Given the description of an element on the screen output the (x, y) to click on. 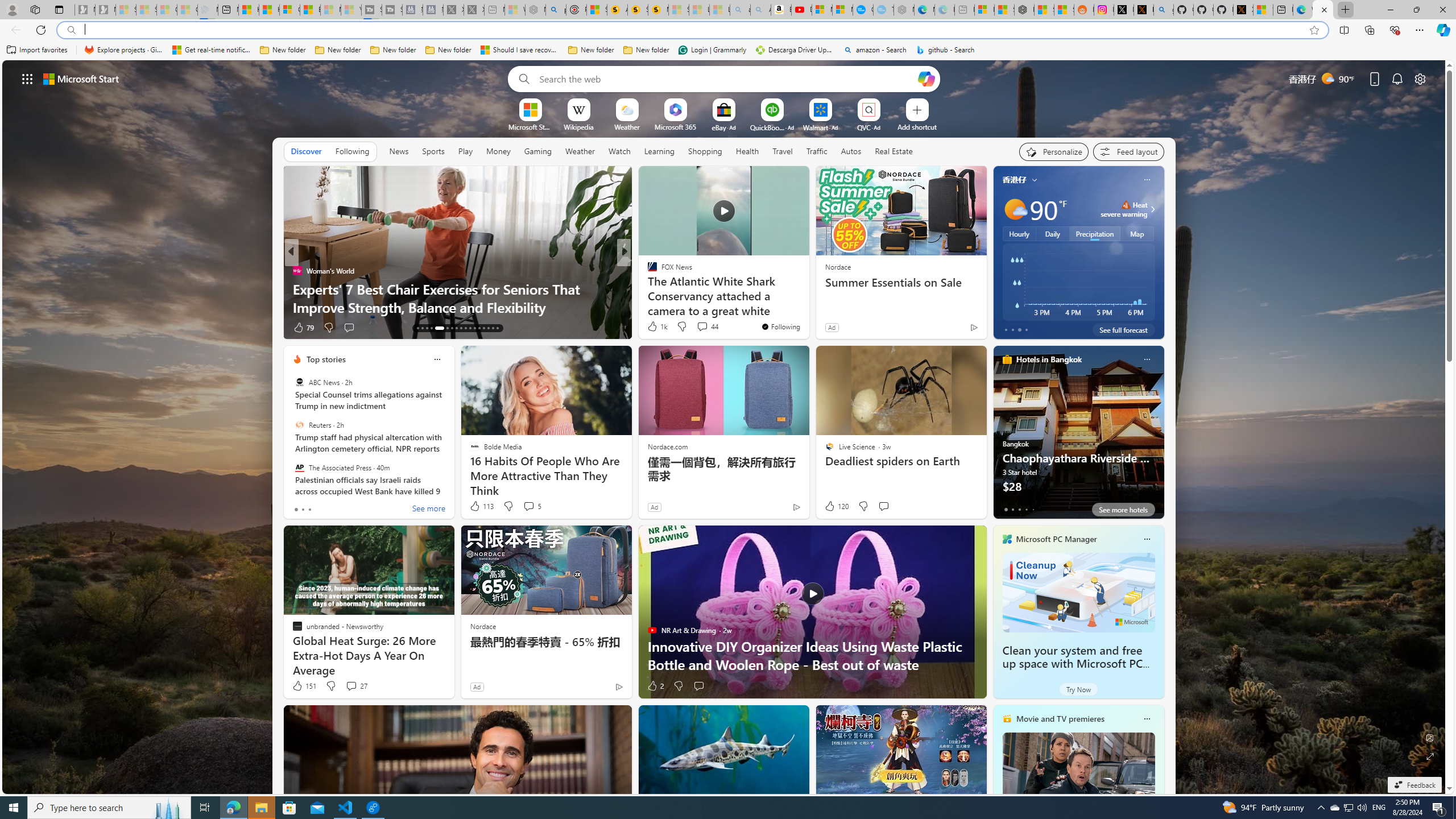
AutomationID: tab-22 (465, 328)
Workspaces (34, 9)
Mostly sunny (1014, 208)
Michelle Starr, Senior Journalist at ScienceAlert (657, 9)
amazon - Search - Sleeping (740, 9)
Extraordinary Gift Idea for Birthday & Christmas (807, 307)
Heat - Severe Heat severe warning (1123, 208)
USA TODAY (647, 270)
Inc. (647, 270)
X Privacy Policy (1242, 9)
Tribune News Service (647, 270)
